Given the description of an element on the screen output the (x, y) to click on. 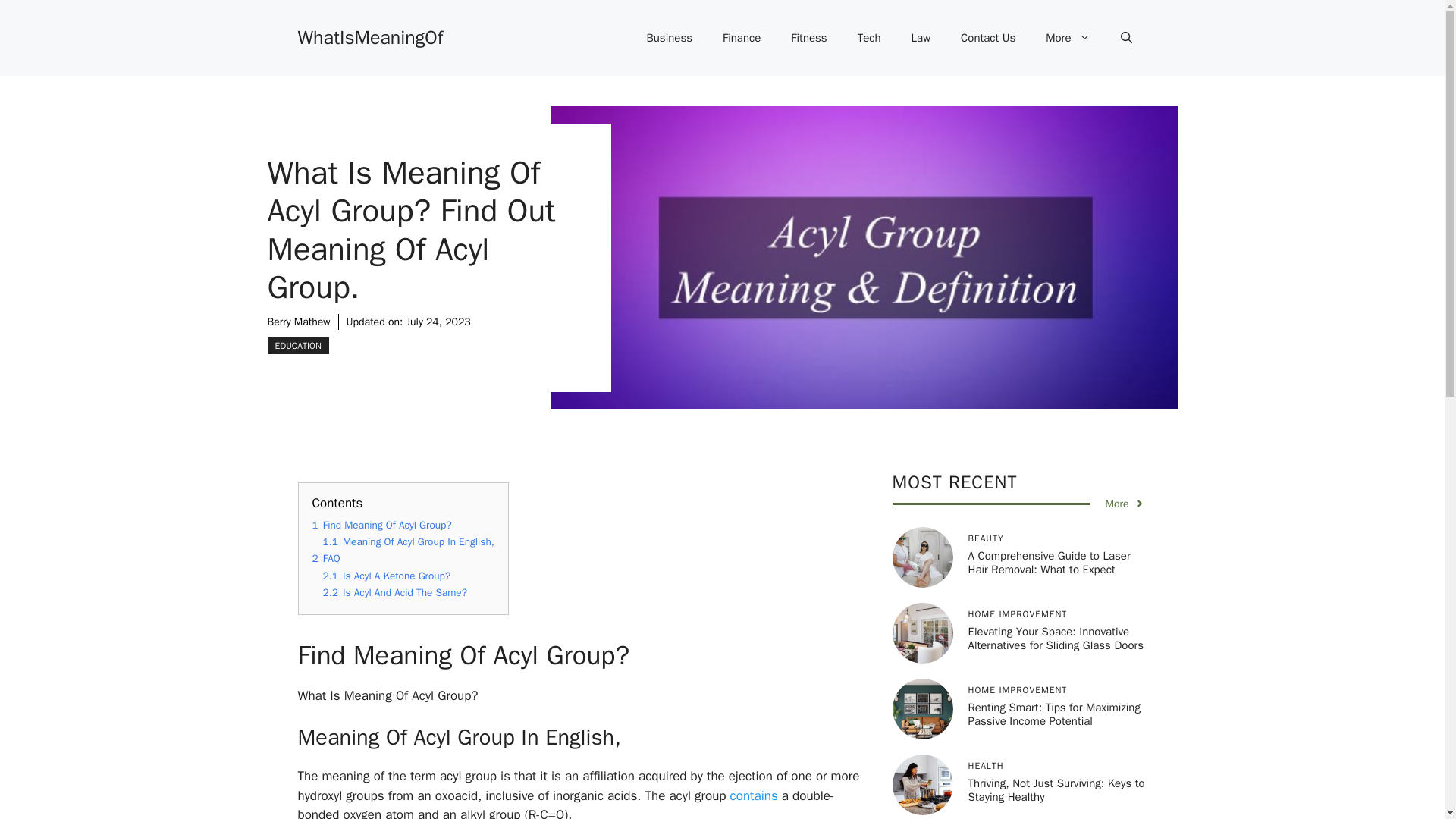
contains (751, 795)
1 Find Meaning Of Acyl Group? (382, 524)
2.2 Is Acyl And Acid The Same? (395, 592)
EDUCATION (297, 345)
More (1124, 503)
Fitness (808, 37)
Tech (869, 37)
WhatIsMeaningOf (369, 37)
1.1 Meaning Of Acyl Group In English, (409, 541)
Contact Us (987, 37)
Business (668, 37)
Berry Mathew (298, 321)
More (1067, 37)
2 FAQ (326, 558)
